Given the description of an element on the screen output the (x, y) to click on. 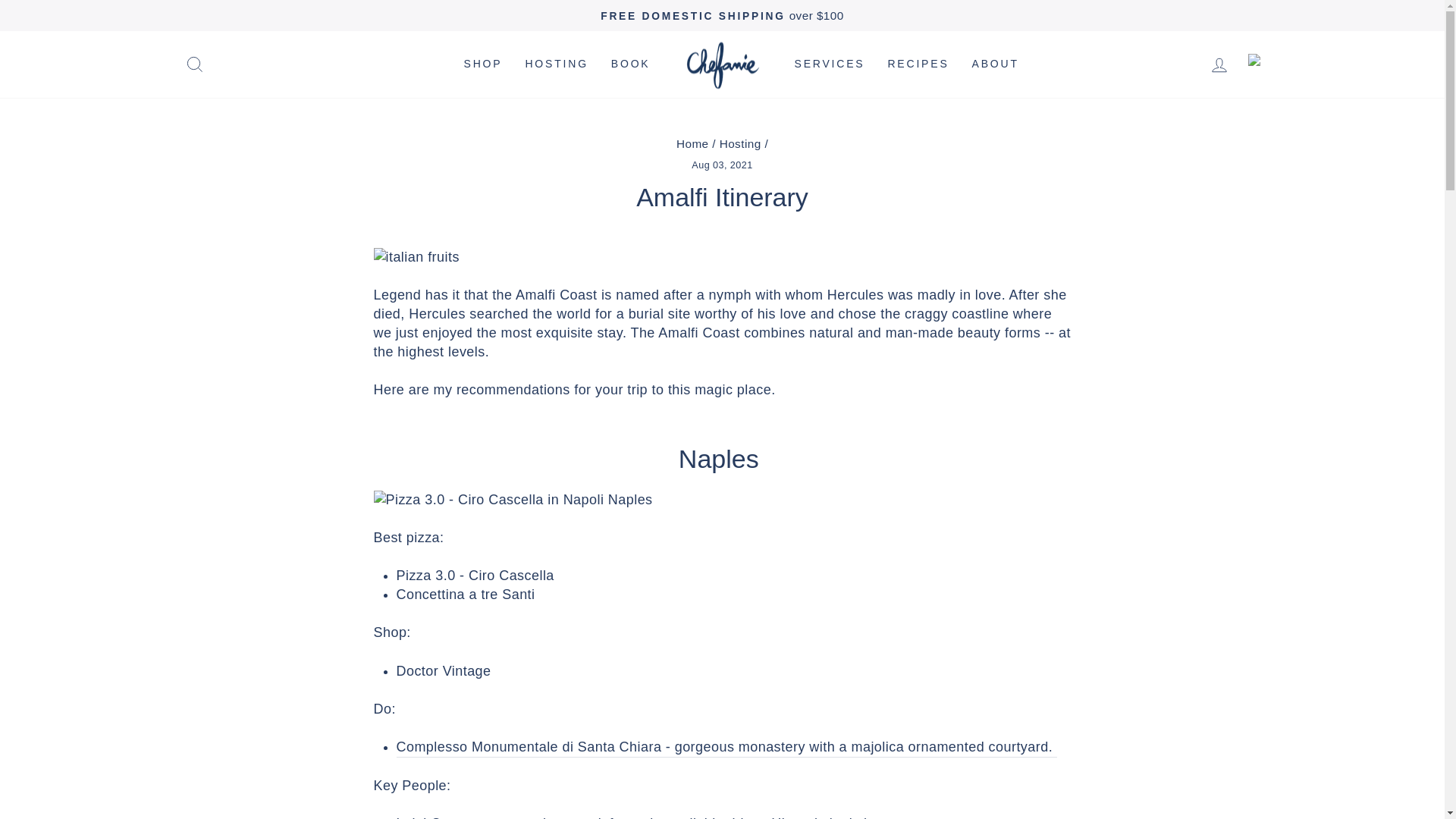
Chauffeur Driver in Naples (877, 816)
Back to the frontpage (693, 143)
